Given the description of an element on the screen output the (x, y) to click on. 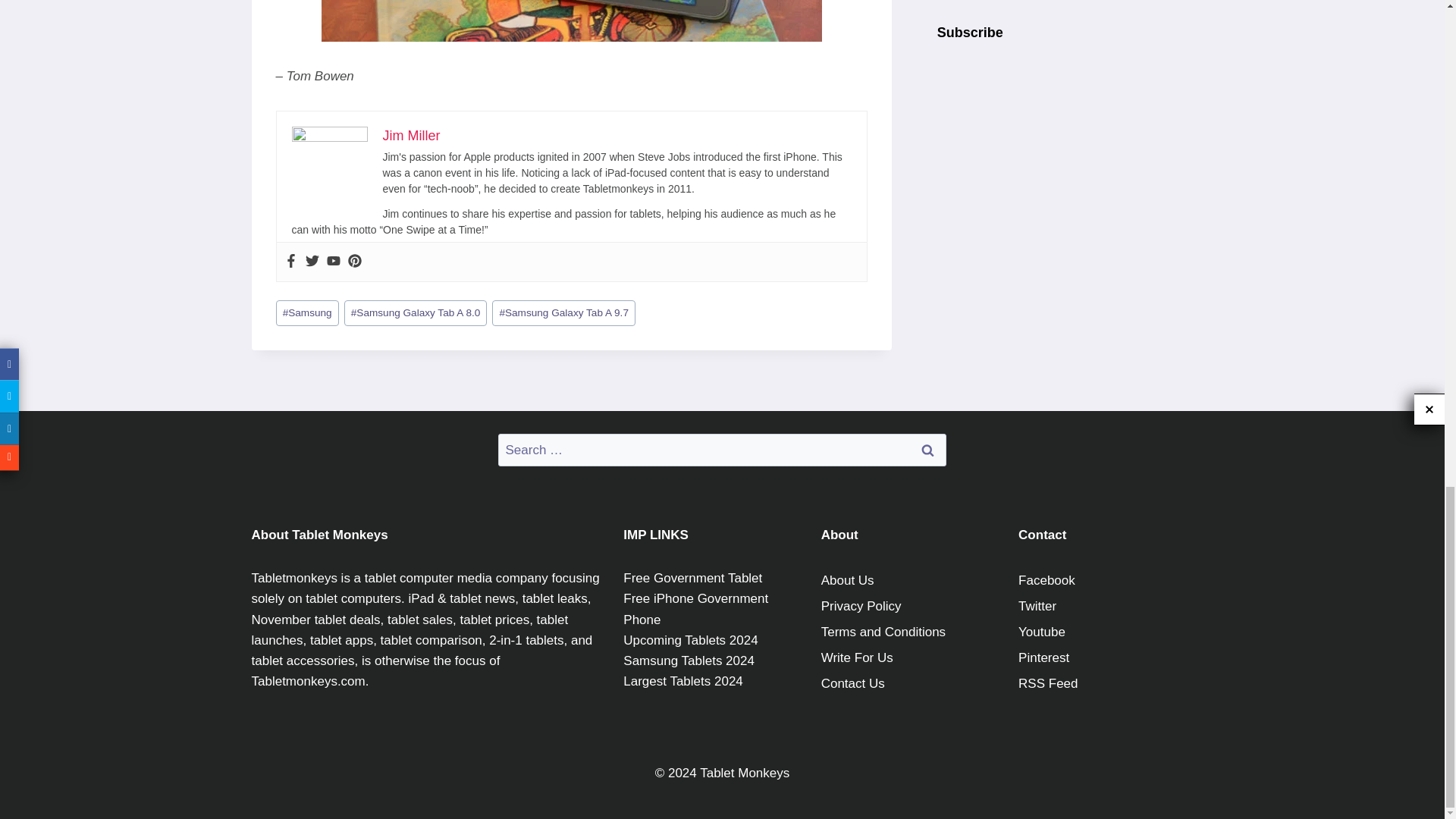
Search (927, 450)
Jim Miller (410, 135)
Samsung Galaxy Tab A 9.7 (563, 313)
Samsung (307, 313)
Samsung Galaxy Tab A 8.0 (415, 313)
Search (927, 450)
